Given the description of an element on the screen output the (x, y) to click on. 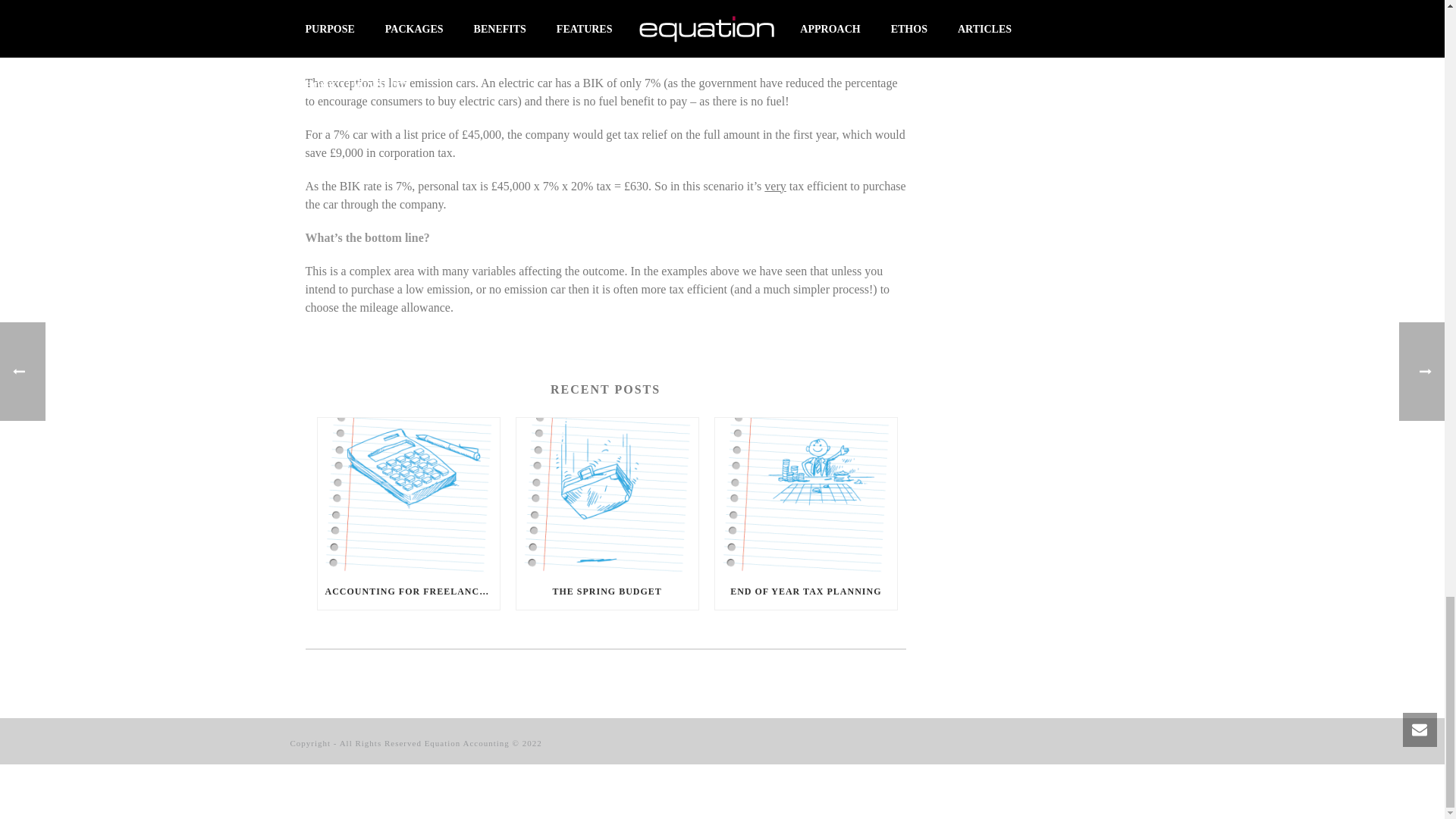
END OF YEAR TAX PLANNING (805, 591)
THE SPRING BUDGET (607, 591)
End of Year Tax Planning (805, 495)
Accounting for freelancers (408, 495)
ACCOUNTING FOR FREELANCERS (408, 591)
The Spring Budget (607, 495)
